Given the description of an element on the screen output the (x, y) to click on. 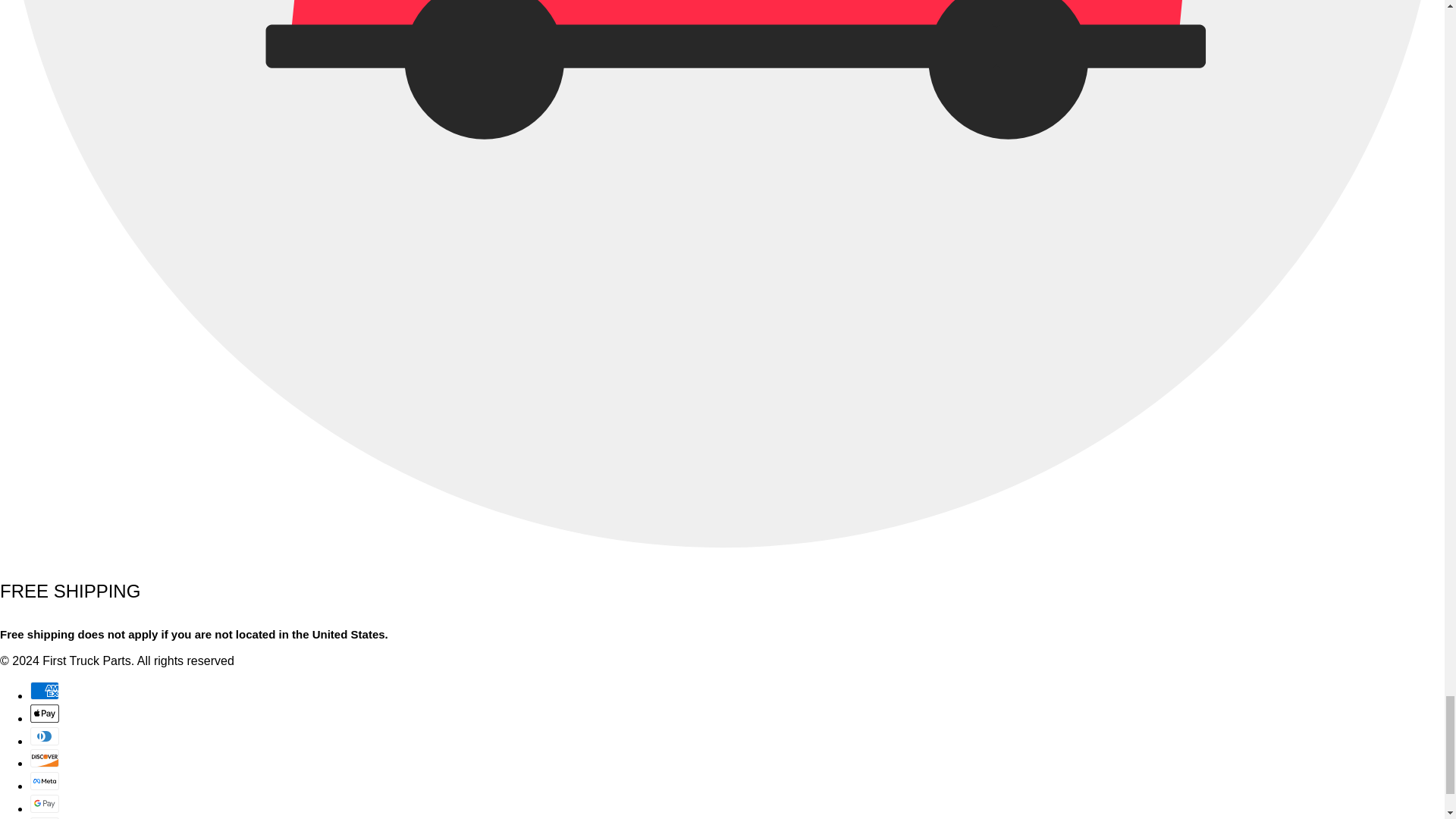
Diners Club (44, 735)
Discover (44, 758)
American Express (44, 690)
Apple Pay (44, 713)
